Given the description of an element on the screen output the (x, y) to click on. 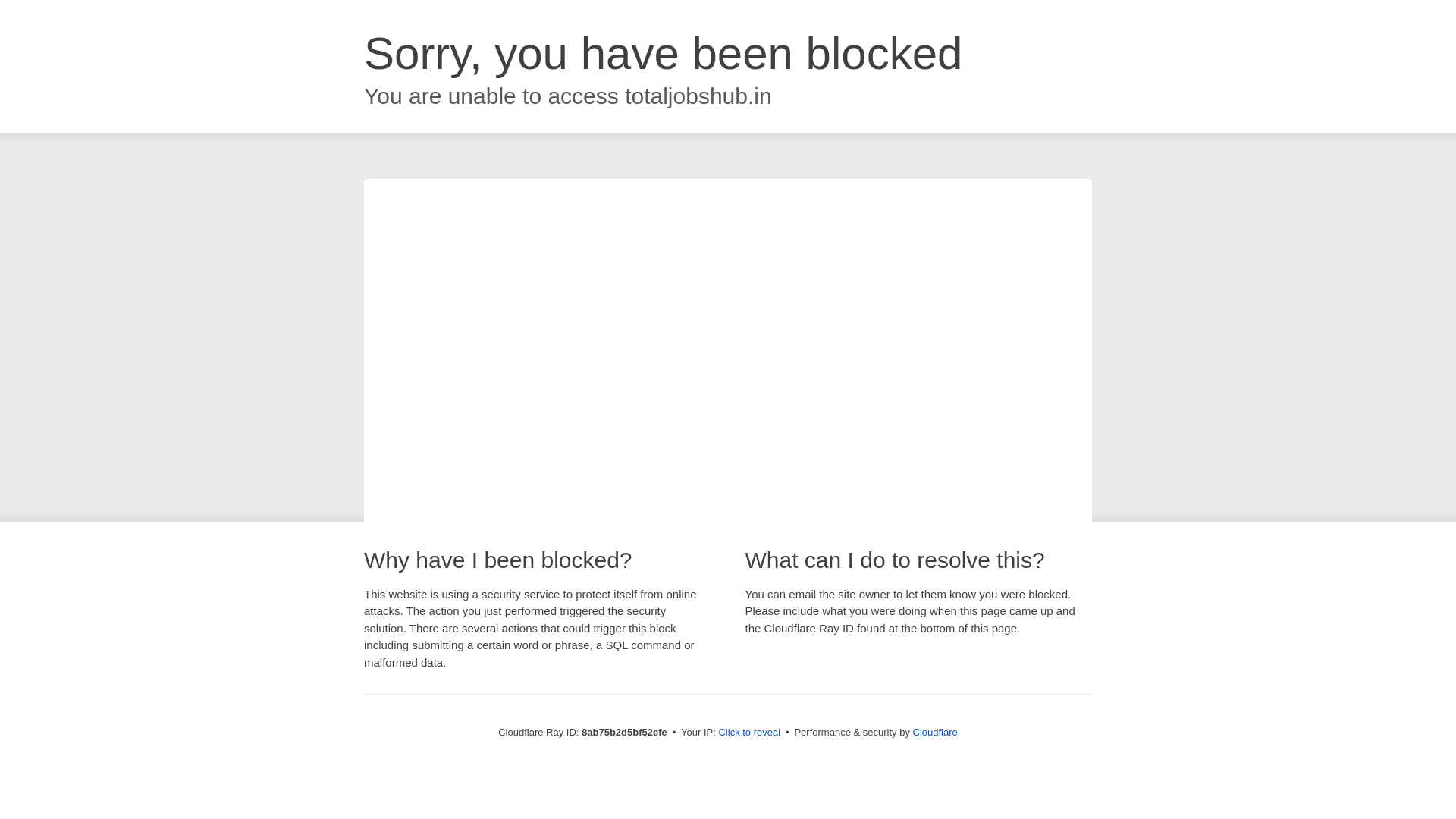
Cloudflare (935, 731)
Click to reveal (748, 732)
